Given the description of an element on the screen output the (x, y) to click on. 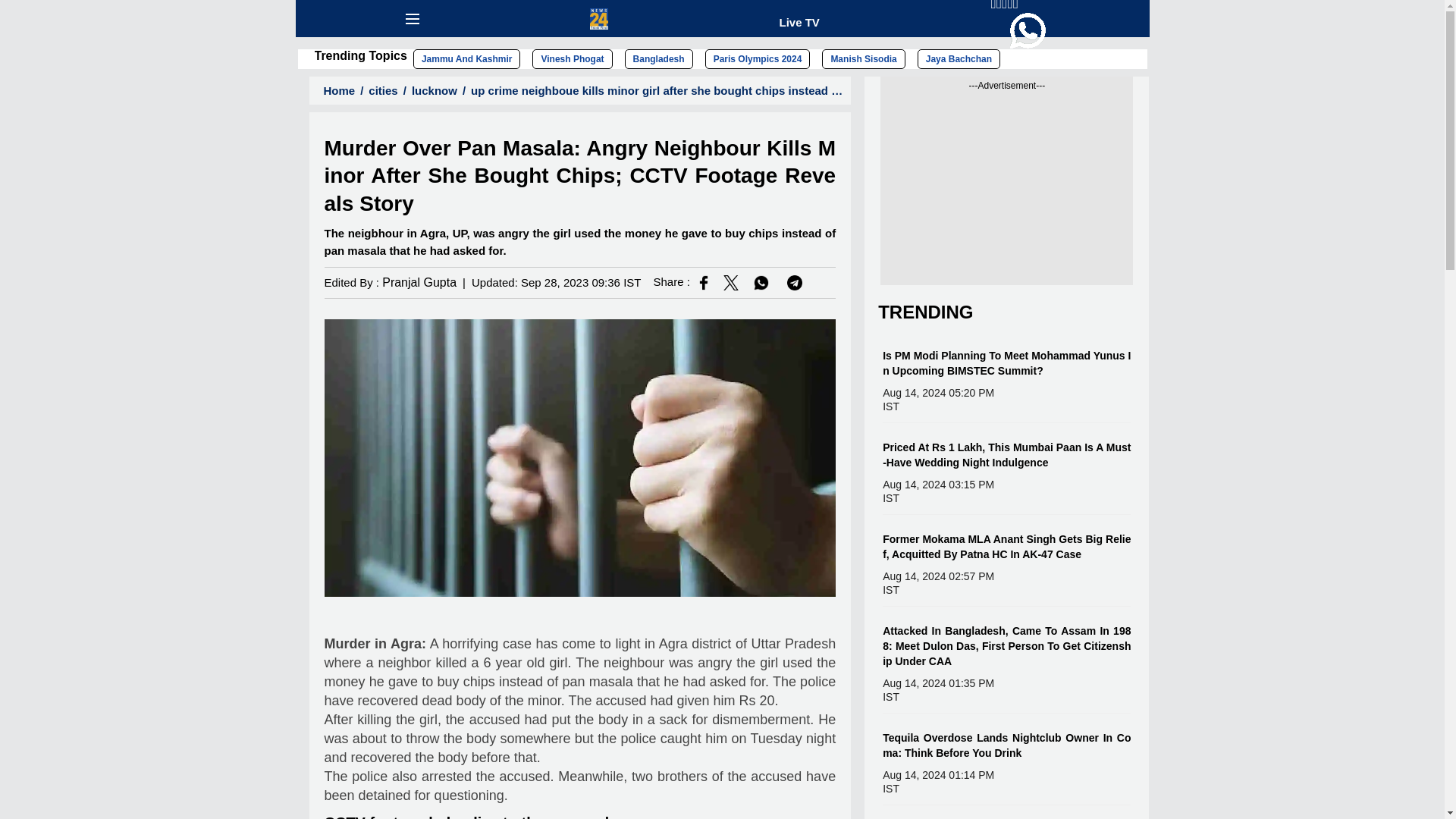
Paris Olympics 2024 (757, 58)
Live TV (798, 21)
Bangladesh (658, 58)
Vinesh Phogat (571, 58)
Pranjal Gupta (419, 282)
Manish Sisodia (863, 58)
Jaya Bachchan (958, 58)
Home (334, 90)
Jammu And Kashmir (467, 58)
